Given the description of an element on the screen output the (x, y) to click on. 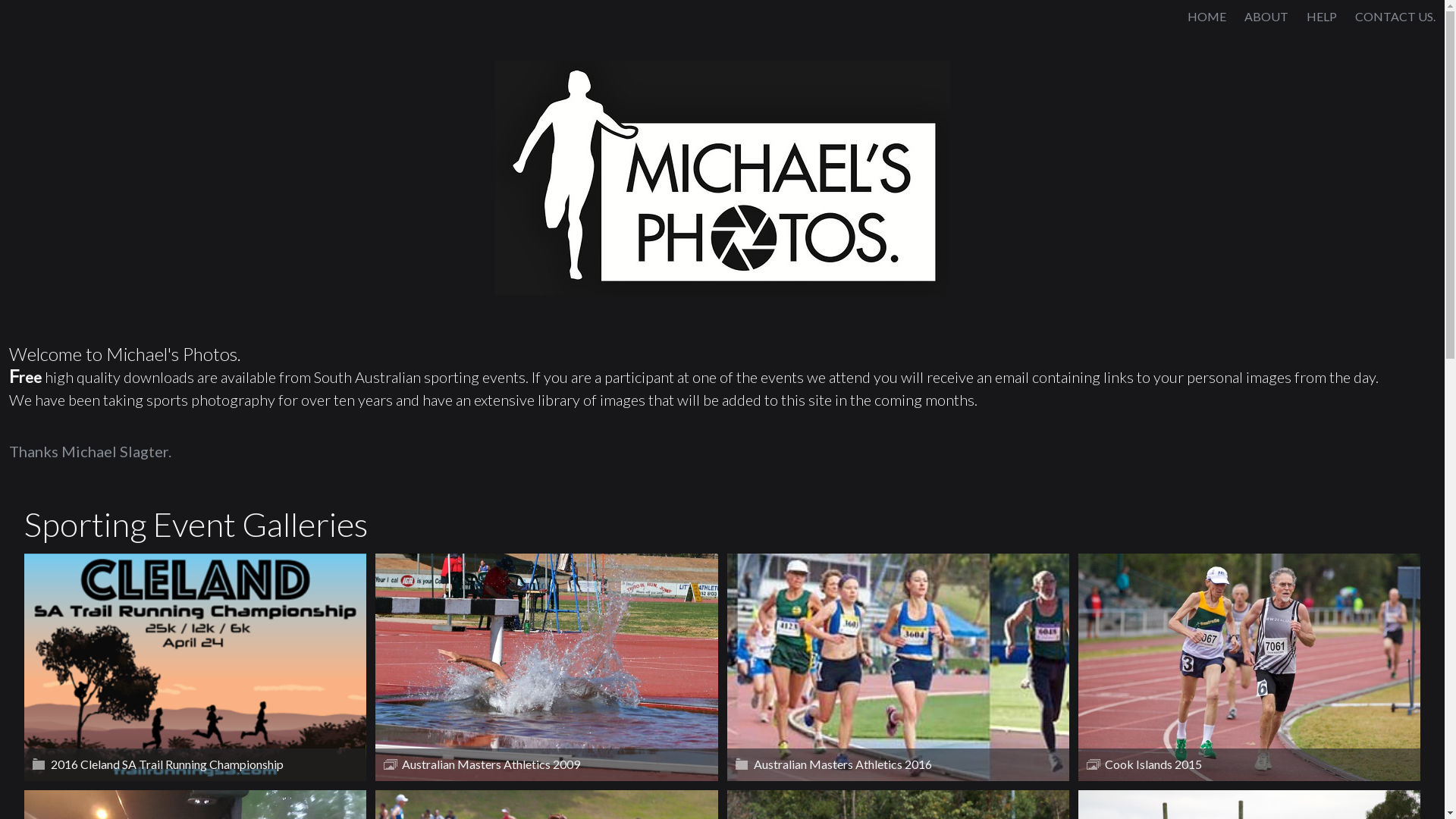
Cook Islands 2015 Element type: text (1249, 667)
HELP Element type: text (1321, 16)
CONTACT US. Element type: text (1395, 16)
ABOUT Element type: text (1266, 16)
Australian Masters Athletics 2016 Element type: text (897, 667)
HOME Element type: text (1206, 16)
2016 Cleland SA Trail Running Championship Element type: text (195, 667)
Australian Masters Athletics 2009 Element type: text (546, 667)
